Given the description of an element on the screen output the (x, y) to click on. 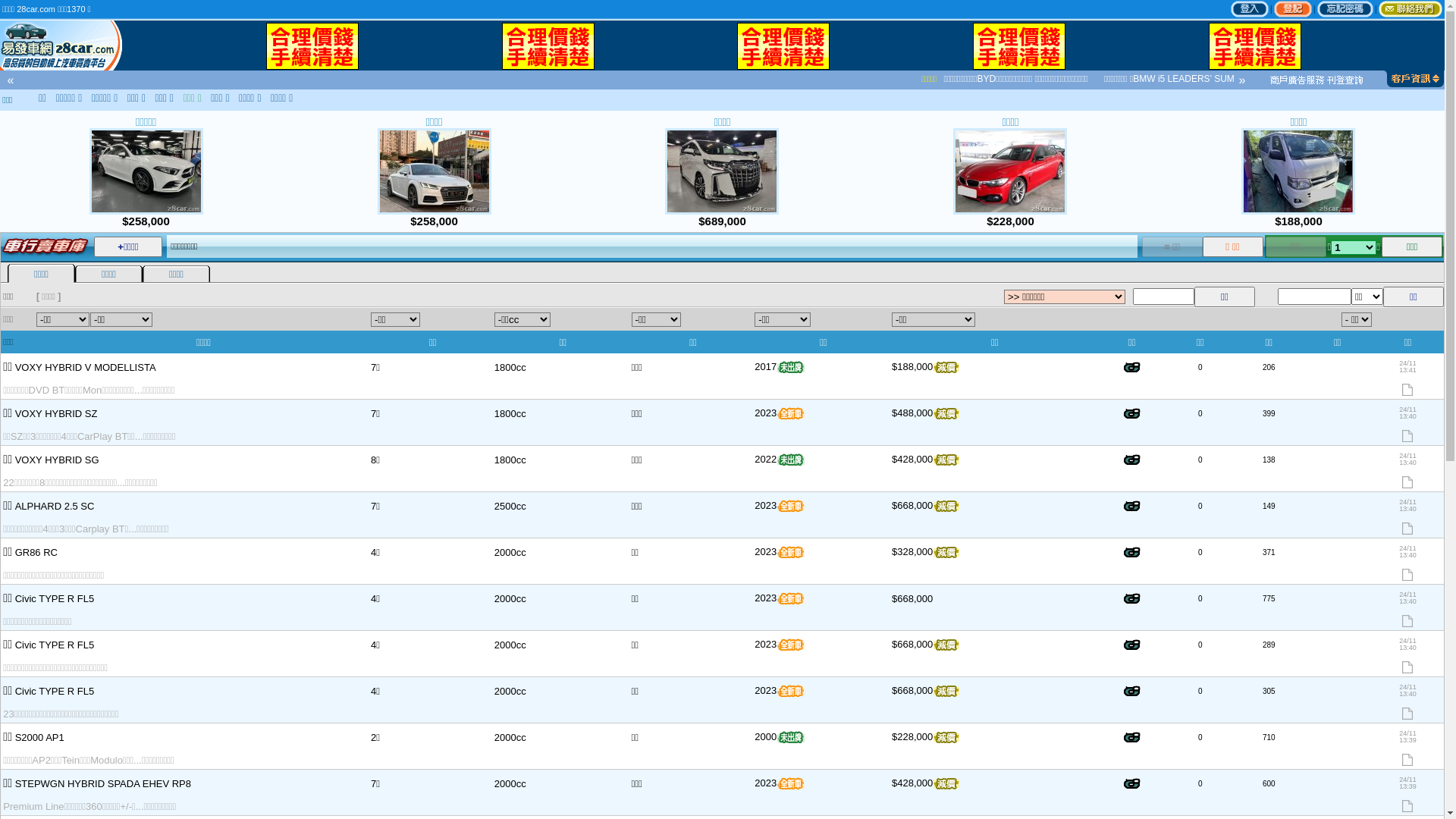
24/11
13:40 Element type: text (1407, 514)
24/11
13:39 Element type: text (1407, 745)
24/11
13:40 Element type: text (1407, 653)
24/11
13:40 Element type: text (1407, 422)
24/11
13:40 Element type: text (1407, 560)
24/11
13:40 Element type: text (1407, 468)
24/11
13:40 Element type: text (1407, 607)
24/11
13:40 Element type: text (1407, 699)
24/11
13:39 Element type: text (1407, 792)
24/11
13:41 Element type: text (1407, 375)
